Given the description of an element on the screen output the (x, y) to click on. 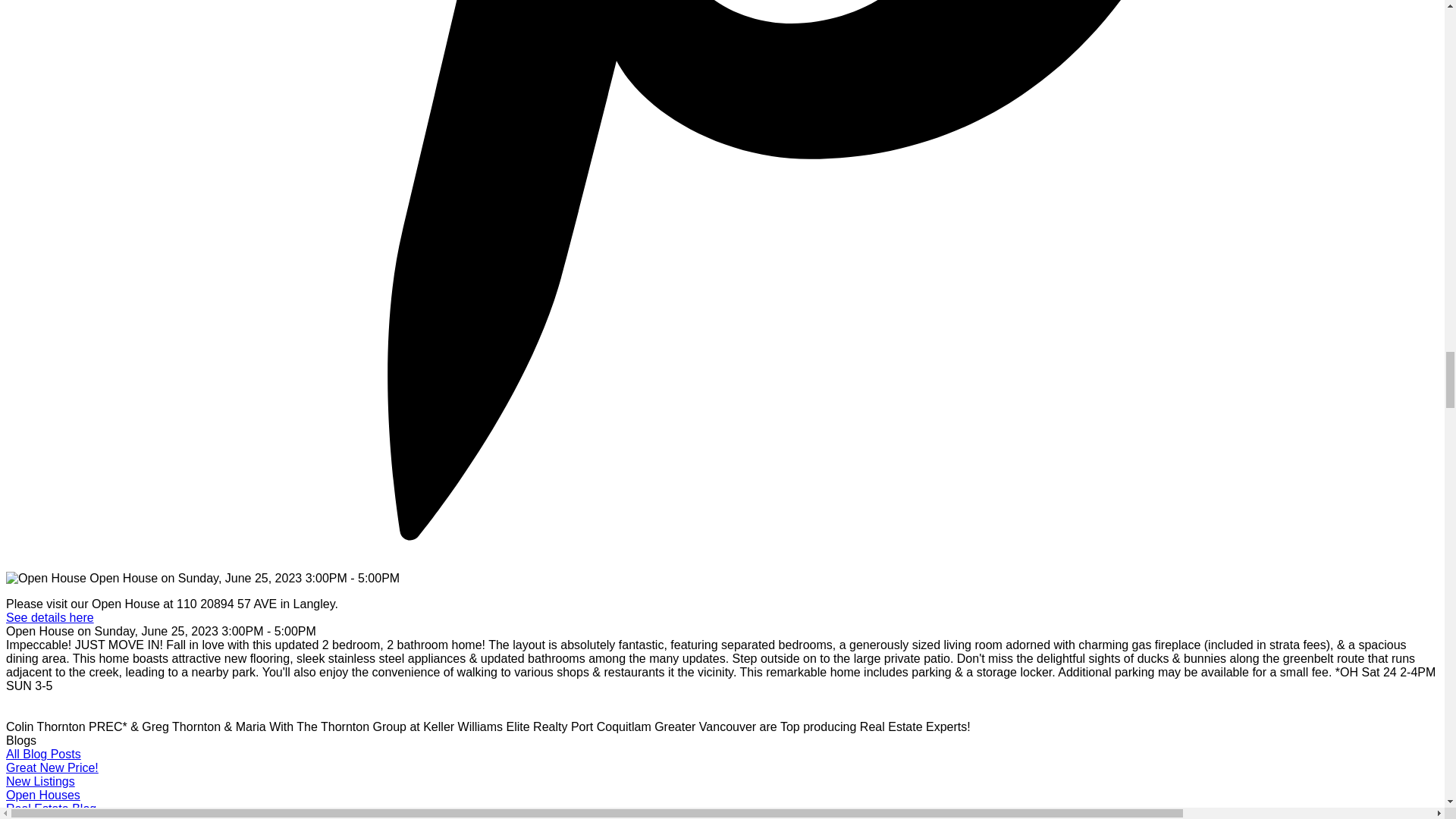
See details here (49, 617)
New Listings (40, 780)
All Blog Posts (43, 753)
Open Houses (42, 794)
Sold Listings (40, 817)
Real Estate Blog (50, 808)
Great New Price! (52, 767)
